Given the description of an element on the screen output the (x, y) to click on. 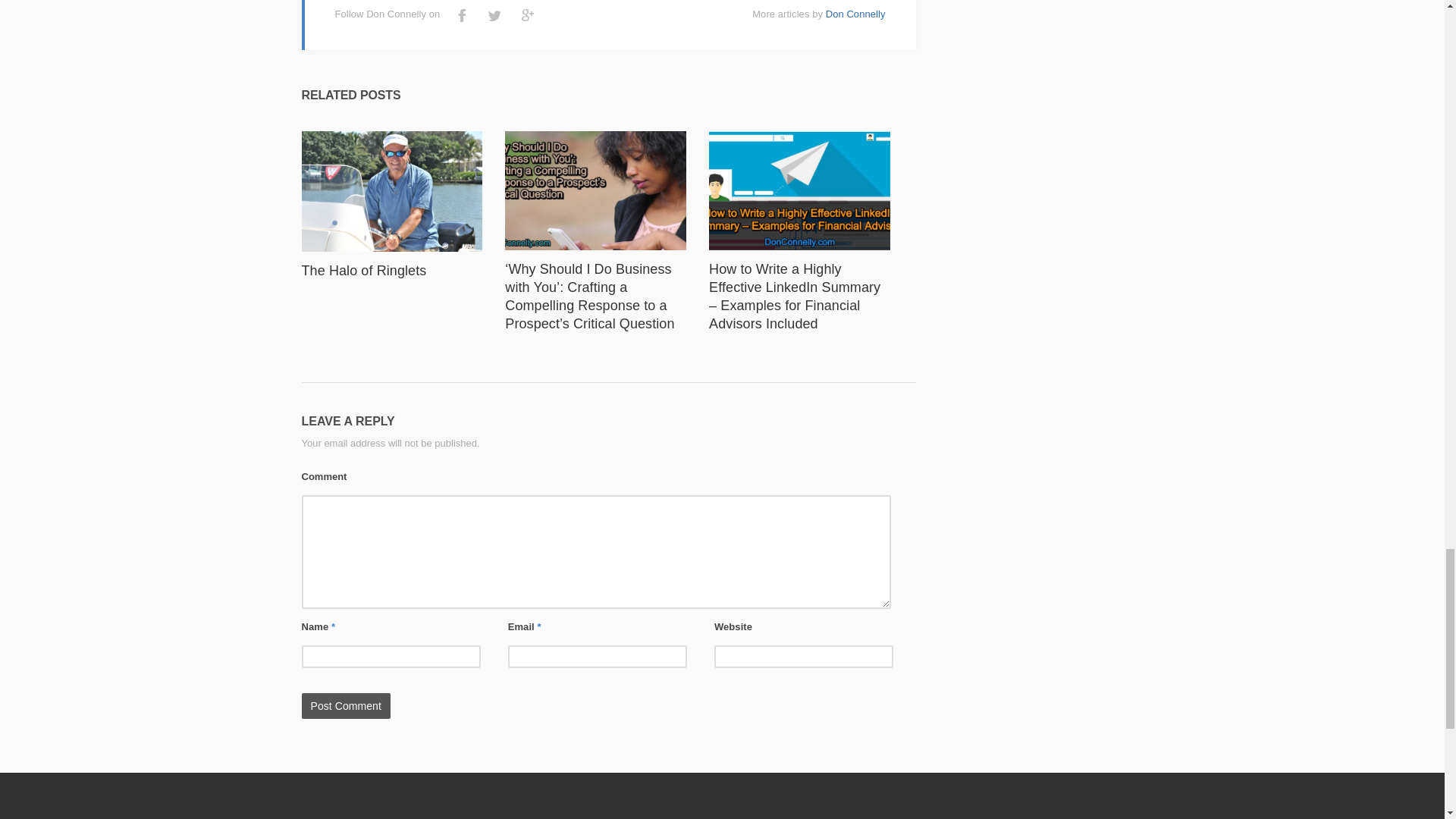
Post Comment (345, 705)
Twitter (494, 15)
Facebook (461, 15)
Posts by Don Connelly (855, 13)
Don Connelly (855, 13)
